Given the description of an element on the screen output the (x, y) to click on. 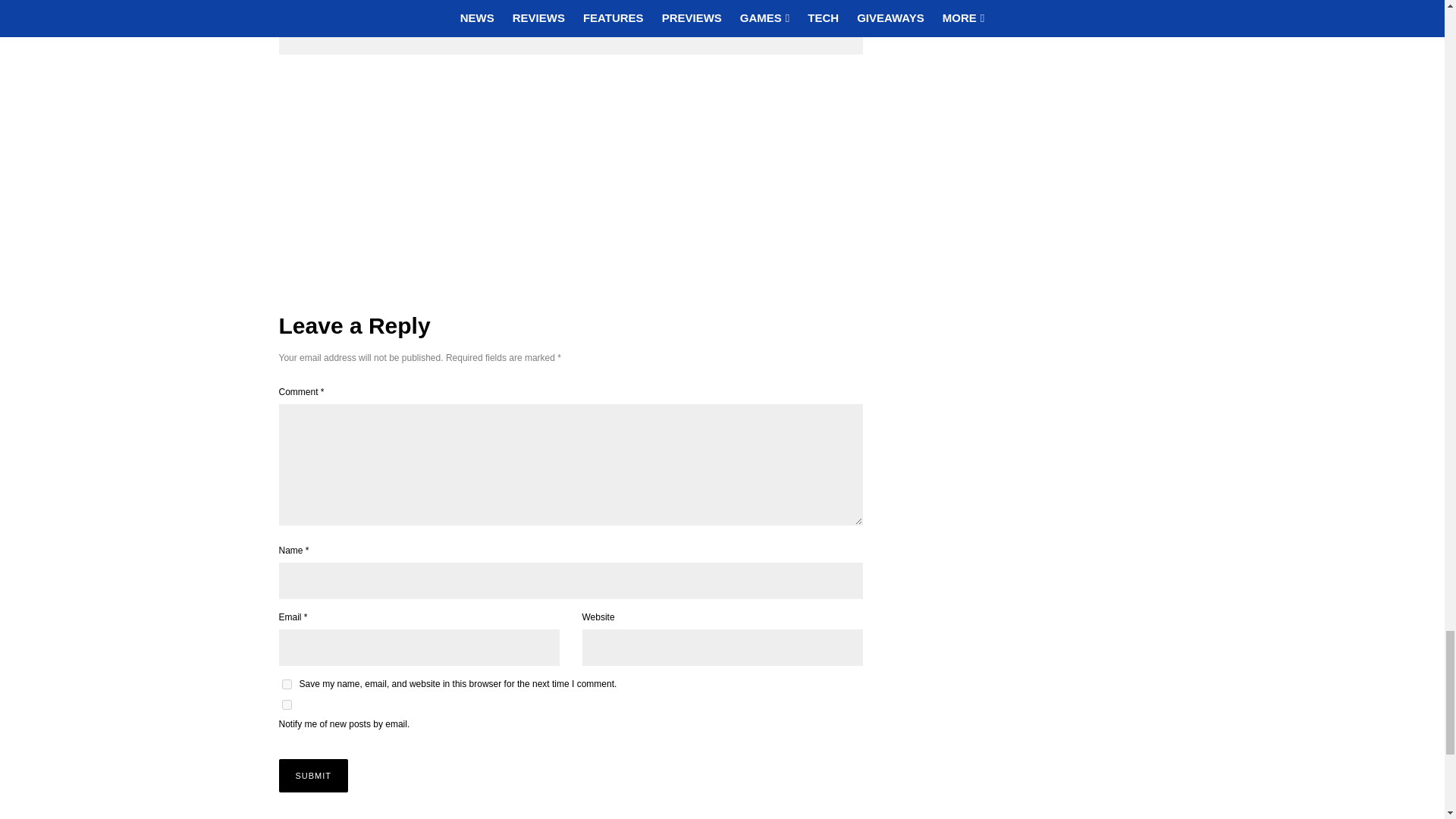
yes (287, 684)
Submit (314, 775)
subscribe (287, 705)
